Given the description of an element on the screen output the (x, y) to click on. 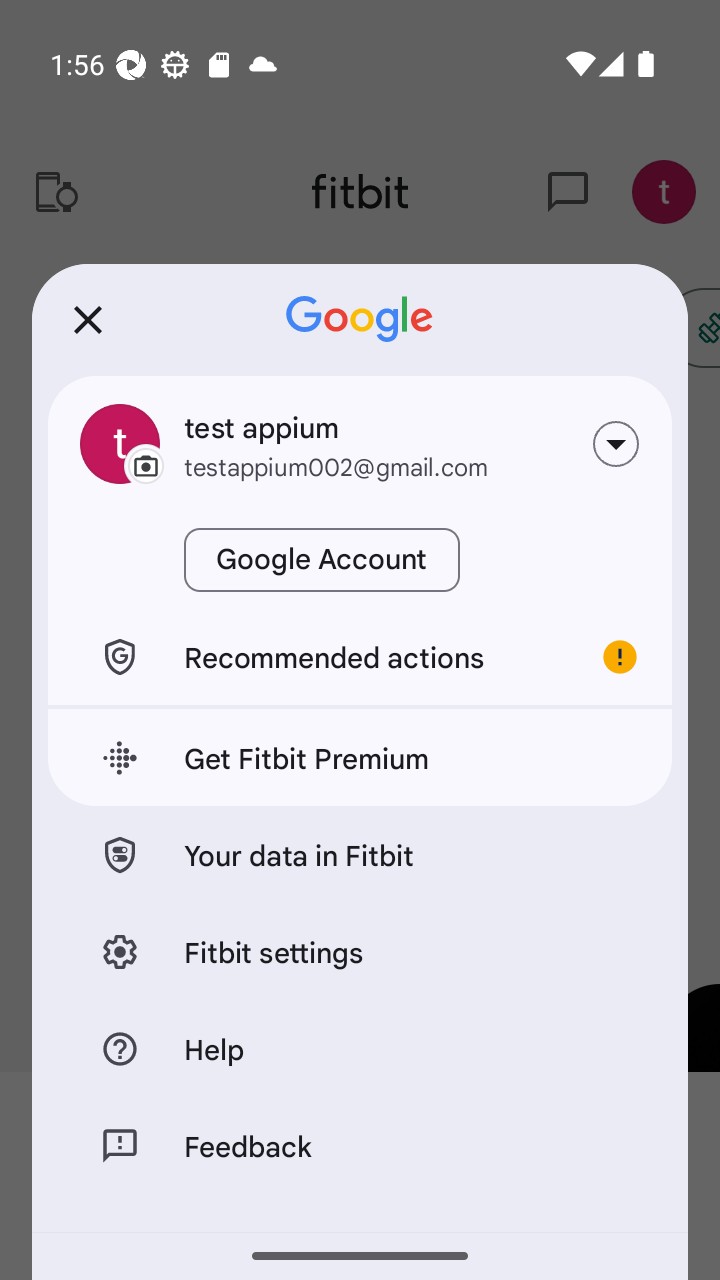
Close (87, 319)
Change profile picture. (119, 443)
Google Account (322, 560)
Recommended actions Important account alert (359, 656)
Get Fitbit Premium (359, 757)
Your data in Fitbit (360, 854)
Fitbit settings (360, 950)
Help (360, 1047)
Feedback (360, 1145)
